Given the description of an element on the screen output the (x, y) to click on. 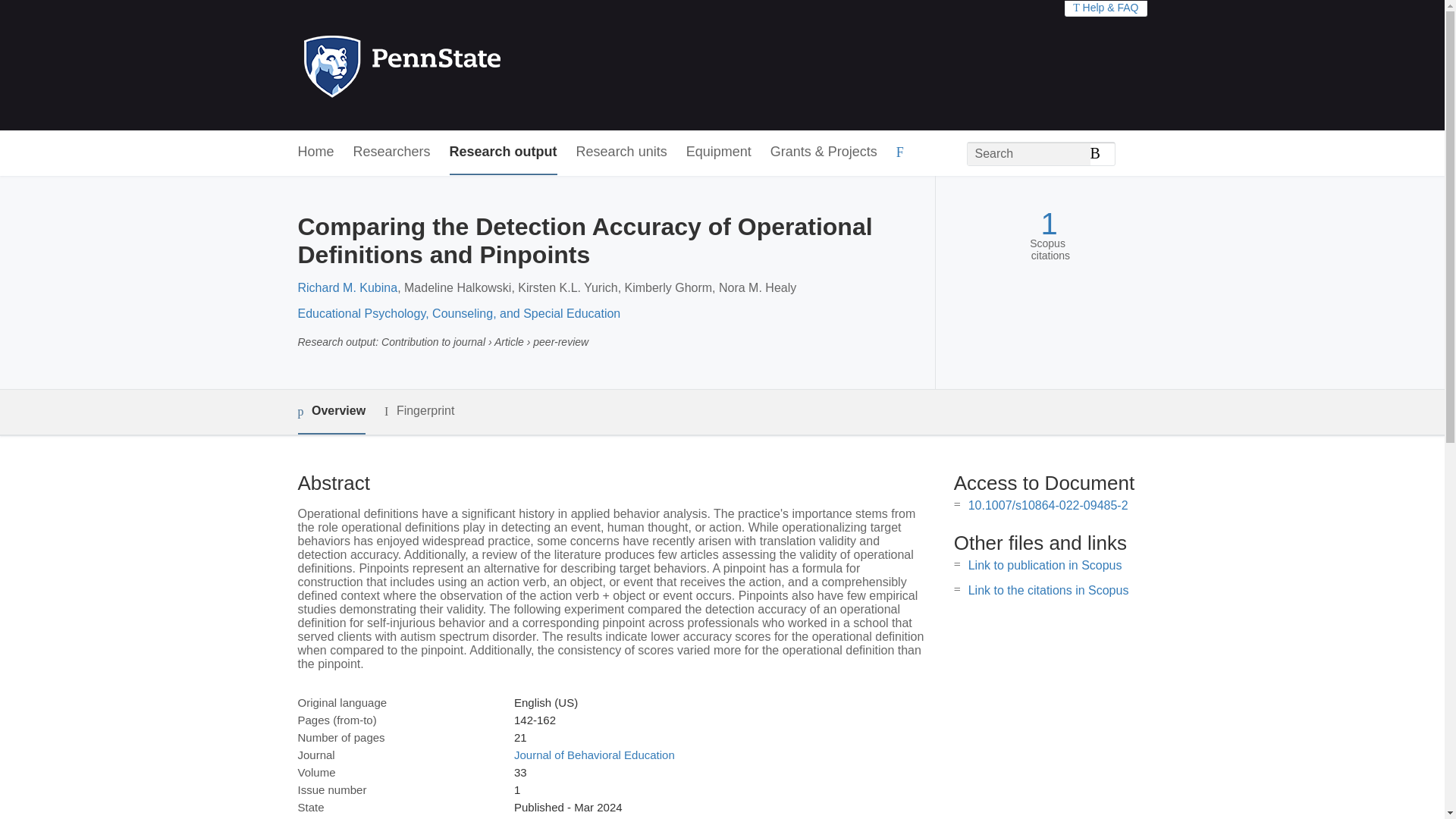
Researchers (391, 152)
Journal of Behavioral Education (594, 754)
Research units (621, 152)
Educational Psychology, Counseling, and Special Education (458, 313)
Link to publication in Scopus (1045, 564)
Equipment (718, 152)
Fingerprint (419, 411)
Penn State Home (467, 65)
Research output (503, 152)
Richard M. Kubina (347, 287)
Link to the citations in Scopus (1048, 590)
Overview (331, 411)
